Given the description of an element on the screen output the (x, y) to click on. 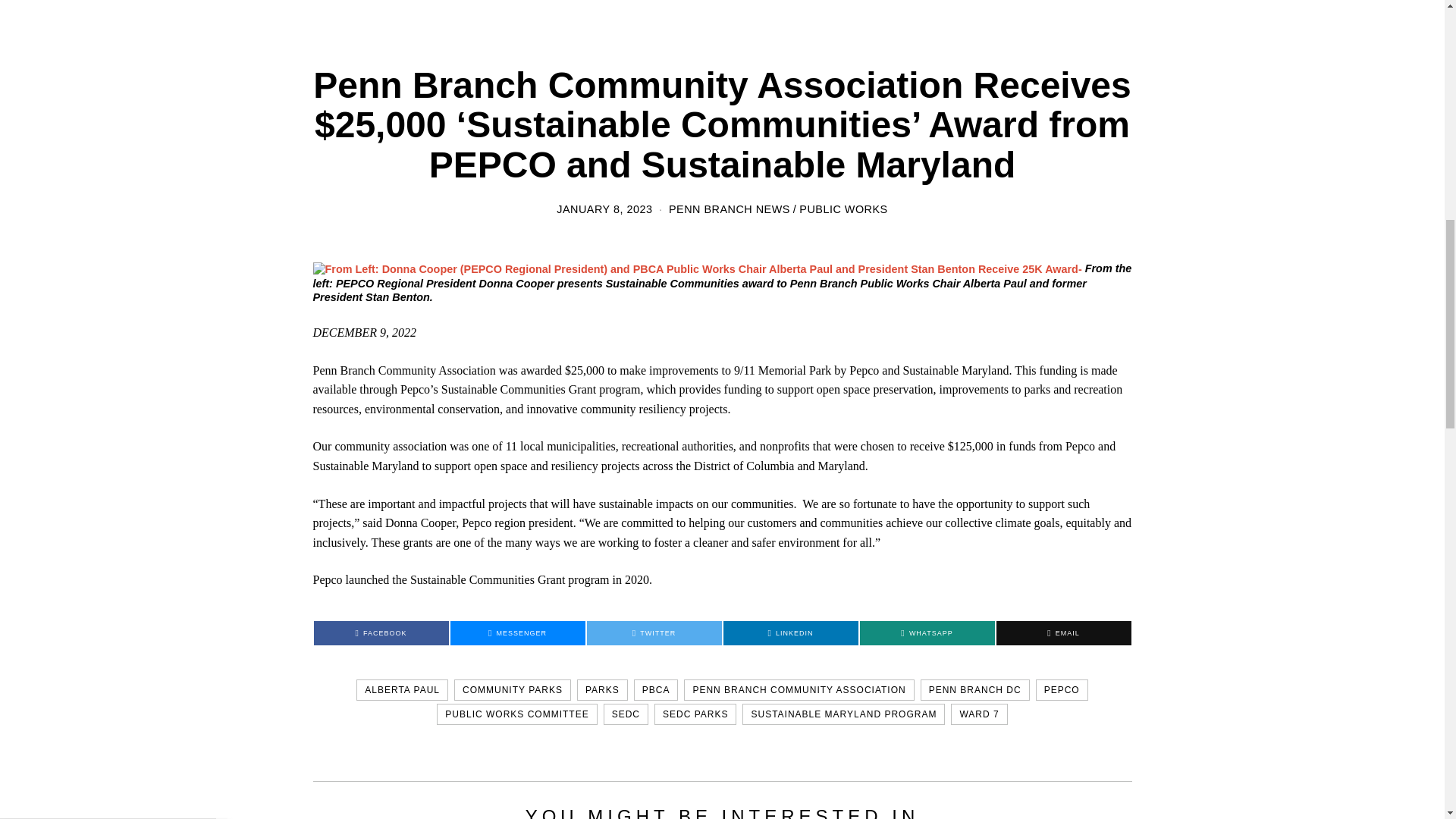
TWITTER (654, 632)
Facebook (381, 632)
LINKEDIN (791, 632)
Linkedin (791, 632)
WHATSAPP (927, 632)
Messenger (517, 632)
Whatsapp (927, 632)
Email (1063, 632)
FACEBOOK (381, 632)
PUBLIC WORKS (842, 209)
